Given the description of an element on the screen output the (x, y) to click on. 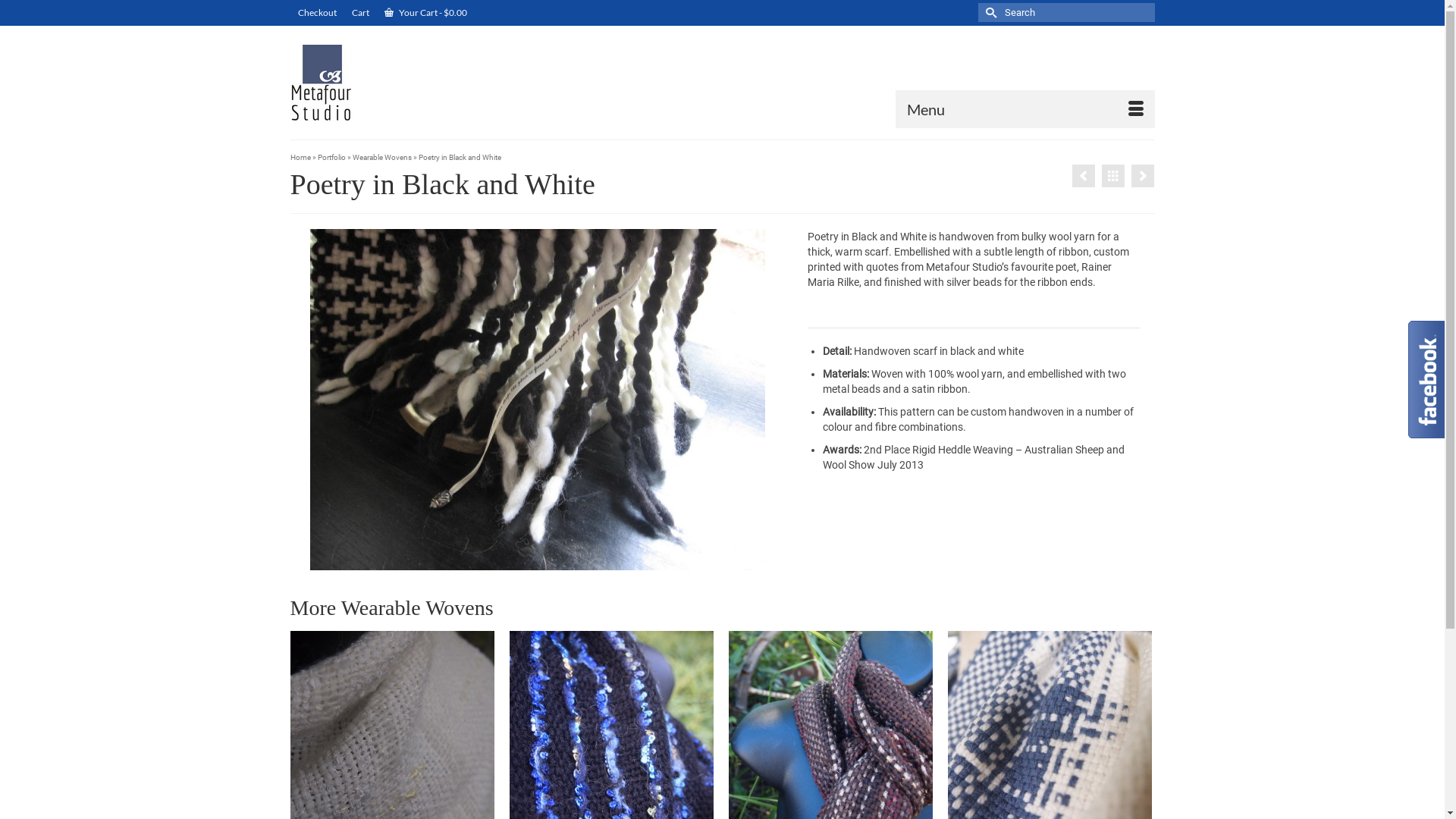
Portfolio Element type: text (330, 157)
Scallop Scarf Element type: hover (1142, 175)
Home Element type: text (299, 157)
Wearable Wovens Element type: text (381, 157)
Checkout Element type: text (316, 12)
Cart Element type: text (360, 12)
Sky Lace Element type: hover (1083, 175)
Your Cart - $0.00 Element type: text (424, 12)
Menu Element type: text (1024, 109)
